Given the description of an element on the screen output the (x, y) to click on. 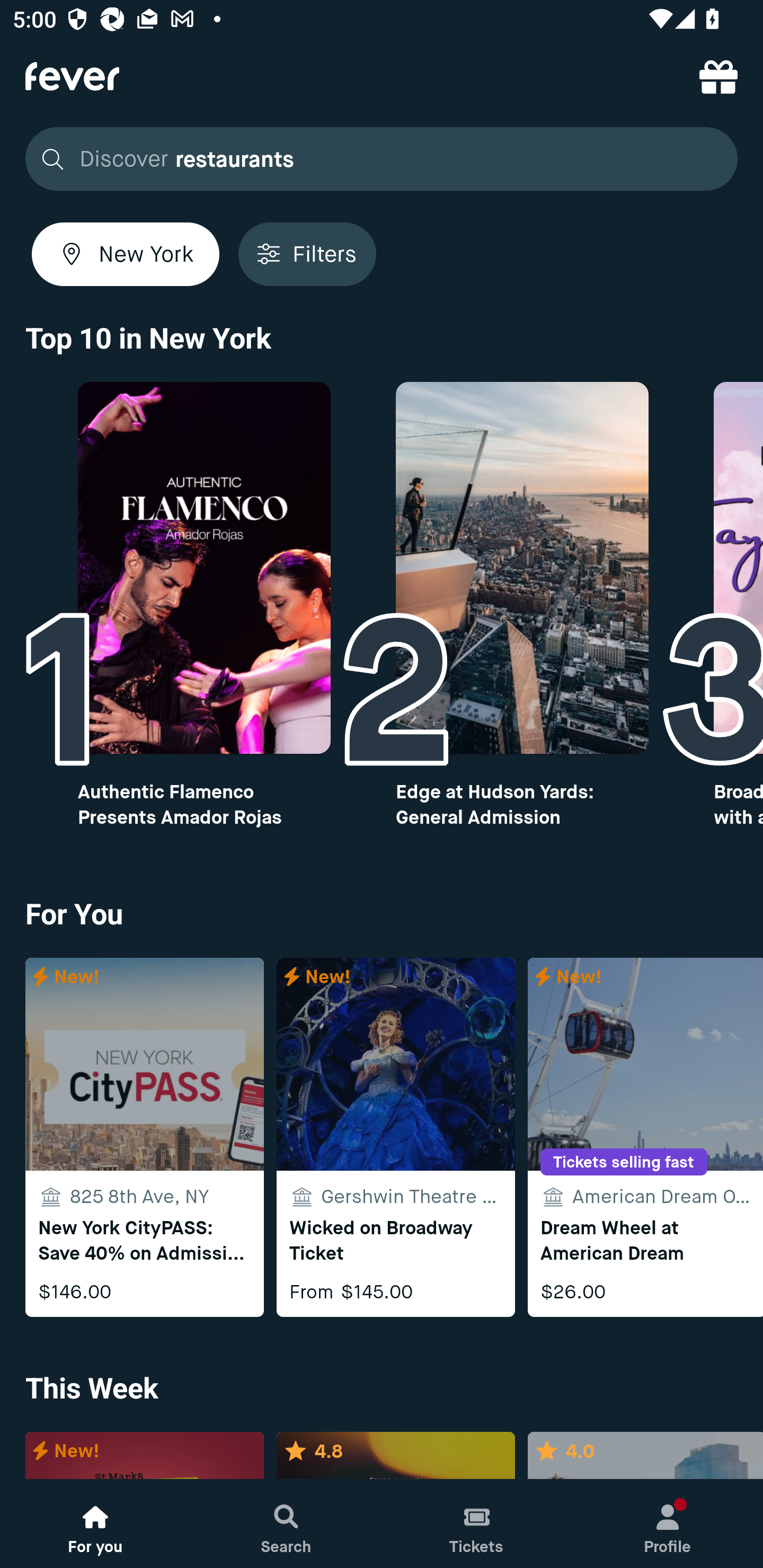
referral (718, 75)
Discover restaurants (381, 158)
Discover restaurants (376, 158)
New York (125, 253)
Filters (307, 253)
Top10 image (203, 568)
Top10 image (521, 568)
Search (285, 1523)
Tickets (476, 1523)
Profile, New notification Profile (667, 1523)
